Given the description of an element on the screen output the (x, y) to click on. 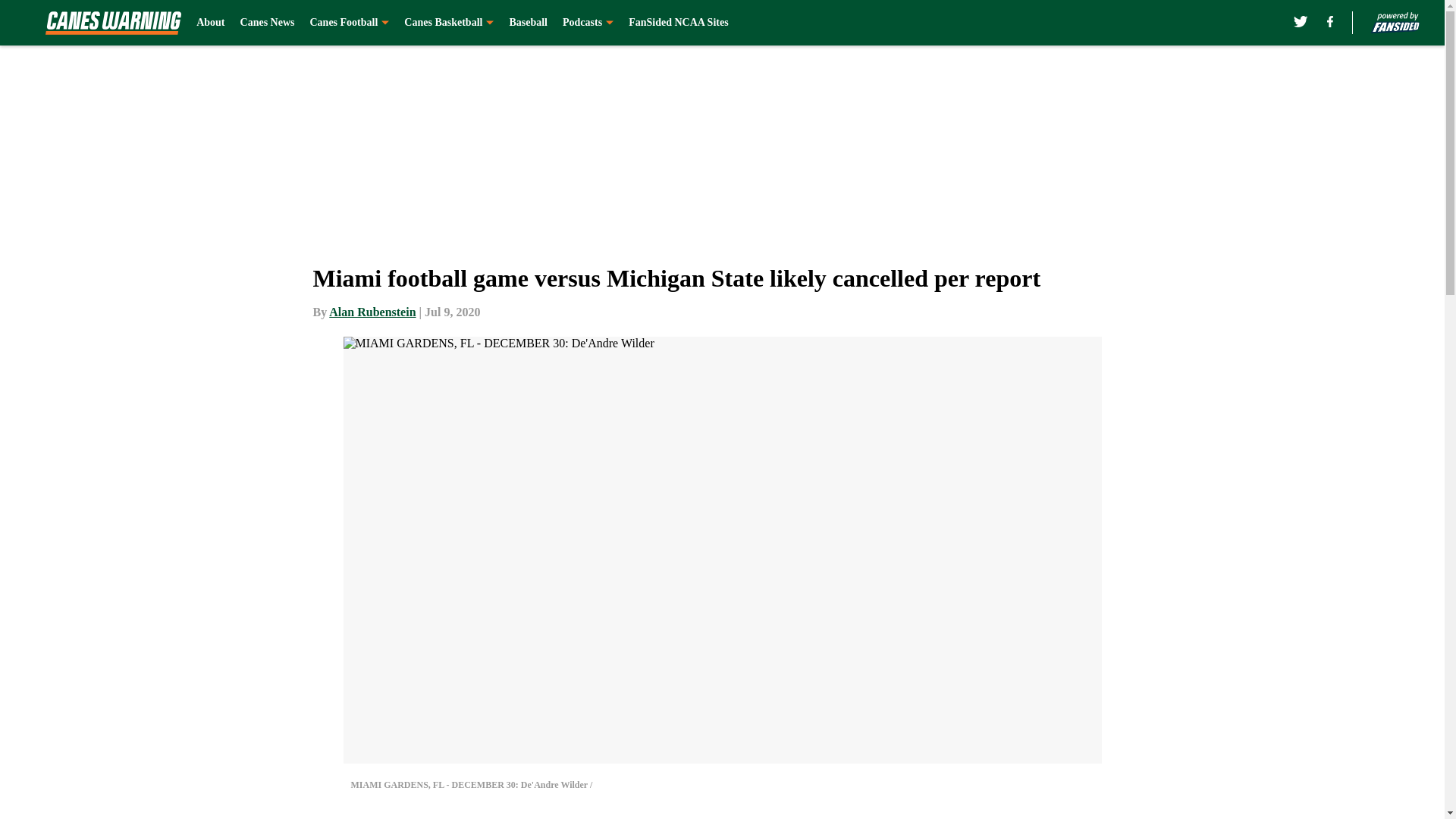
About (210, 22)
Canes News (267, 22)
Baseball (527, 22)
FanSided NCAA Sites (678, 22)
Alan Rubenstein (371, 311)
